Given the description of an element on the screen output the (x, y) to click on. 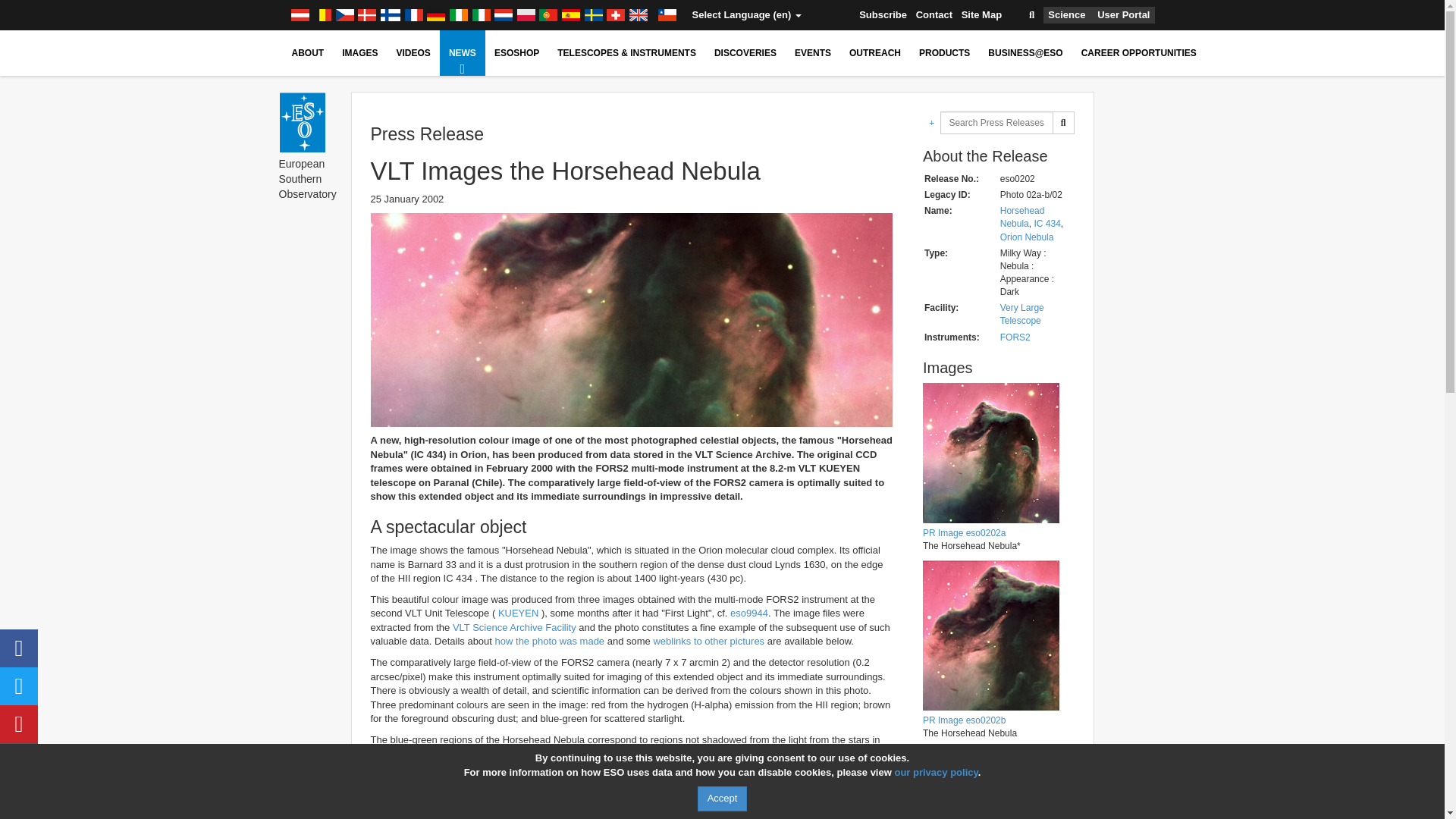
Poland (525, 15)
ABOUT (307, 53)
Denmark (366, 15)
Sweden (593, 15)
Site Map (981, 15)
Subscribe (883, 15)
Germany (435, 15)
Accept (722, 798)
Ireland (458, 15)
Belgium (322, 15)
Portugal (547, 15)
our privacy policy (934, 772)
Czechia (344, 15)
Italy (481, 15)
Science (1066, 14)
